Given the description of an element on the screen output the (x, y) to click on. 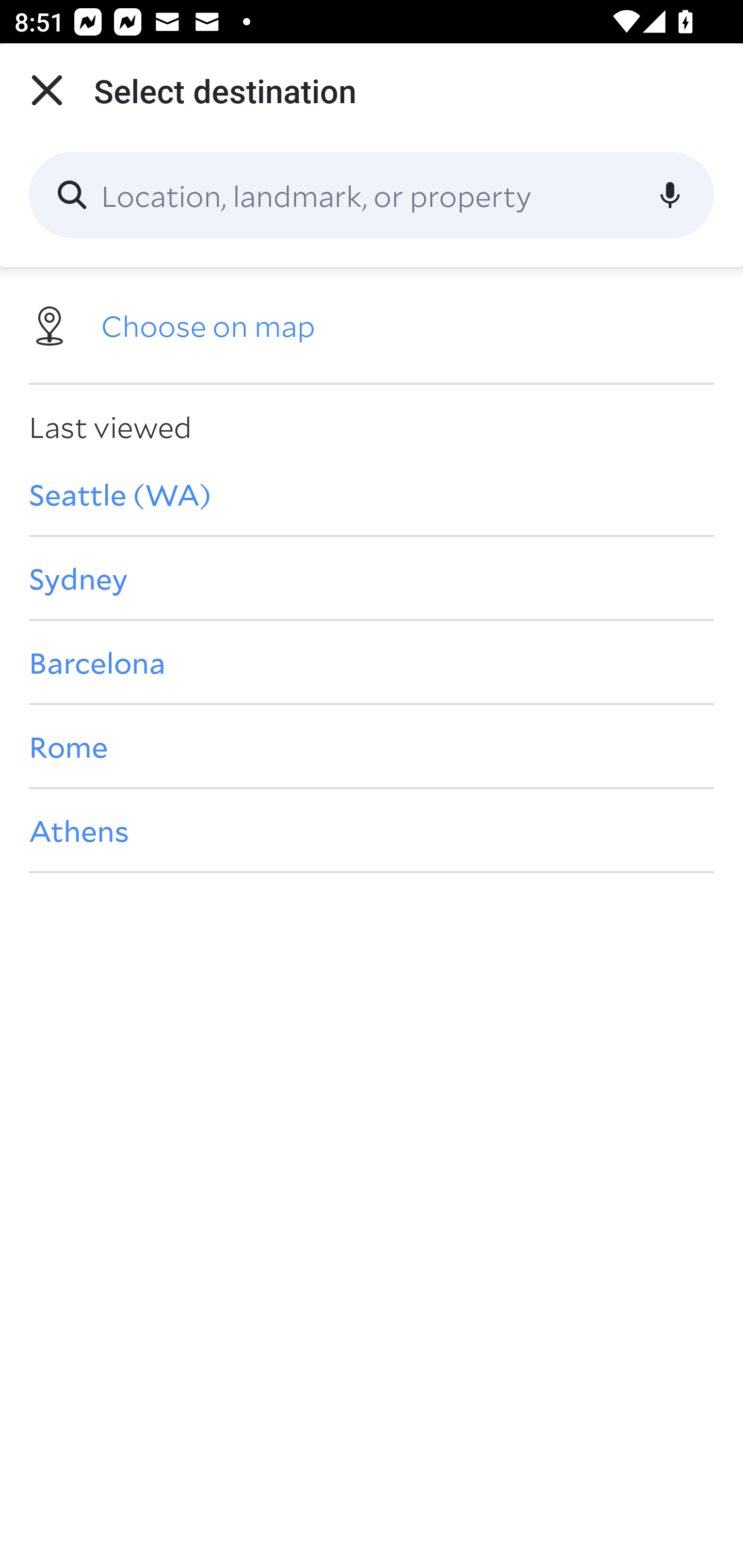
Location, landmark, or property (371, 195)
Choose on map (371, 324)
Seattle (WA) (371, 493)
Sydney (371, 577)
Barcelona (371, 661)
Rome (371, 746)
Athens (371, 829)
